Given the description of an element on the screen output the (x, y) to click on. 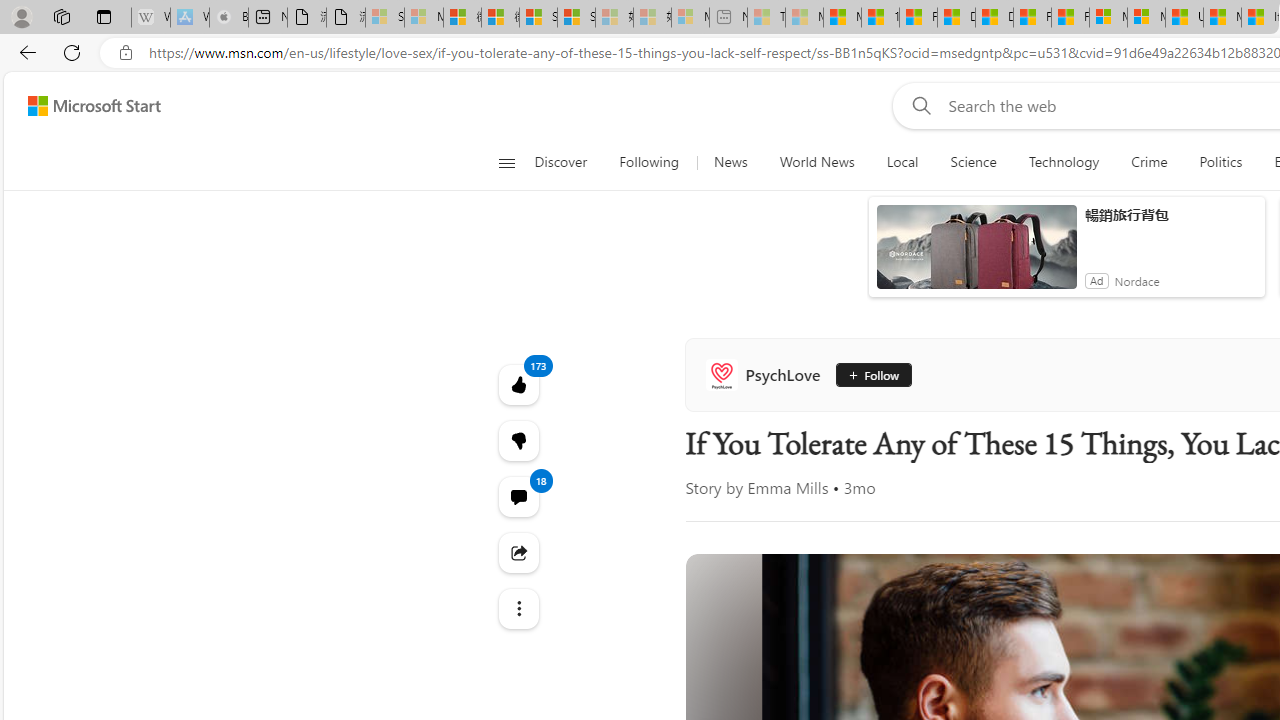
Microsoft Services Agreement - Sleeping (423, 17)
PsychLove (767, 374)
anim-content (975, 255)
Share this story (517, 552)
Microsoft account | Account Checkup - Sleeping (690, 17)
Class: at-item (517, 609)
